Given the description of an element on the screen output the (x, y) to click on. 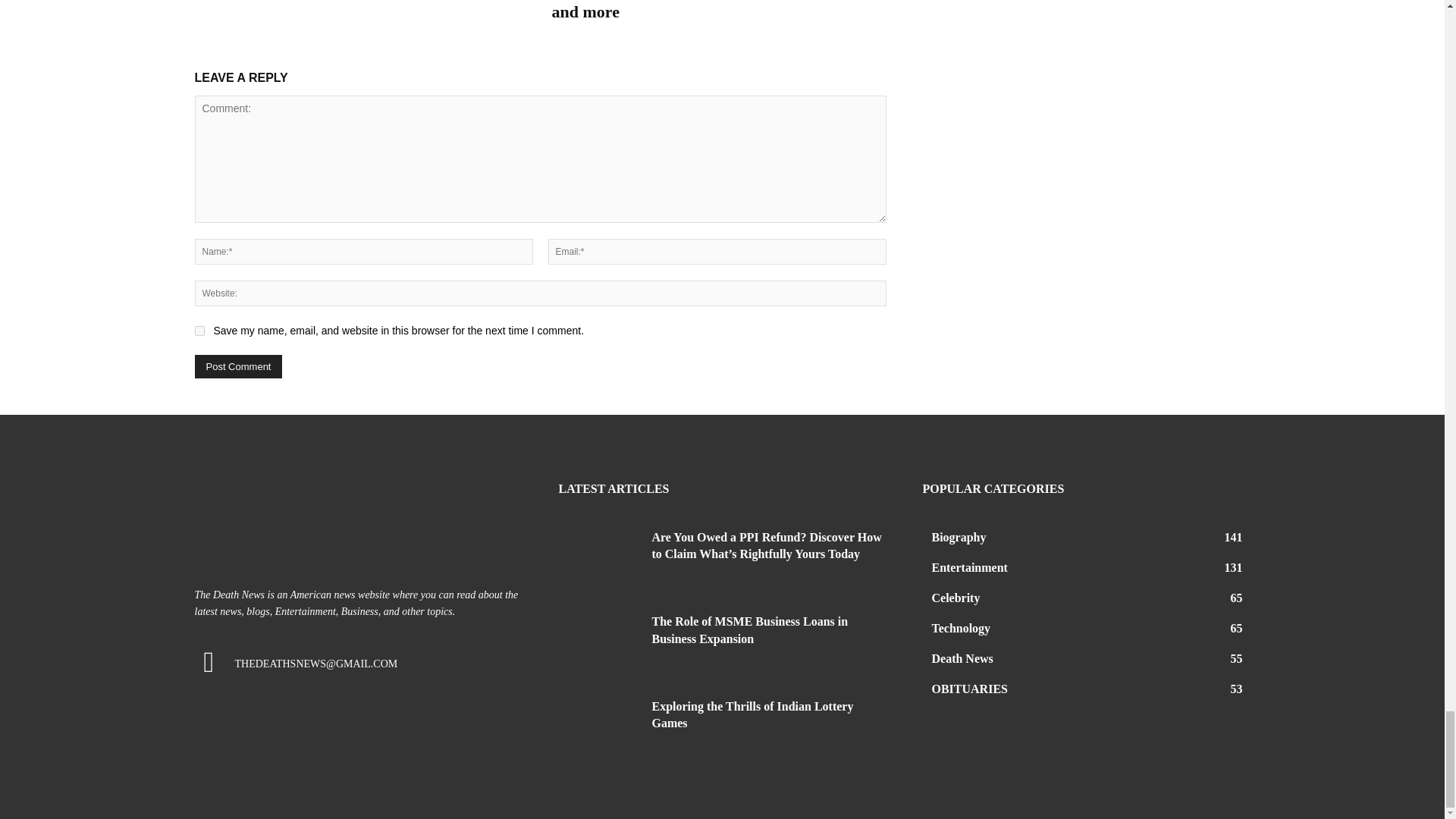
yes (198, 330)
Post Comment (237, 366)
